Given the description of an element on the screen output the (x, y) to click on. 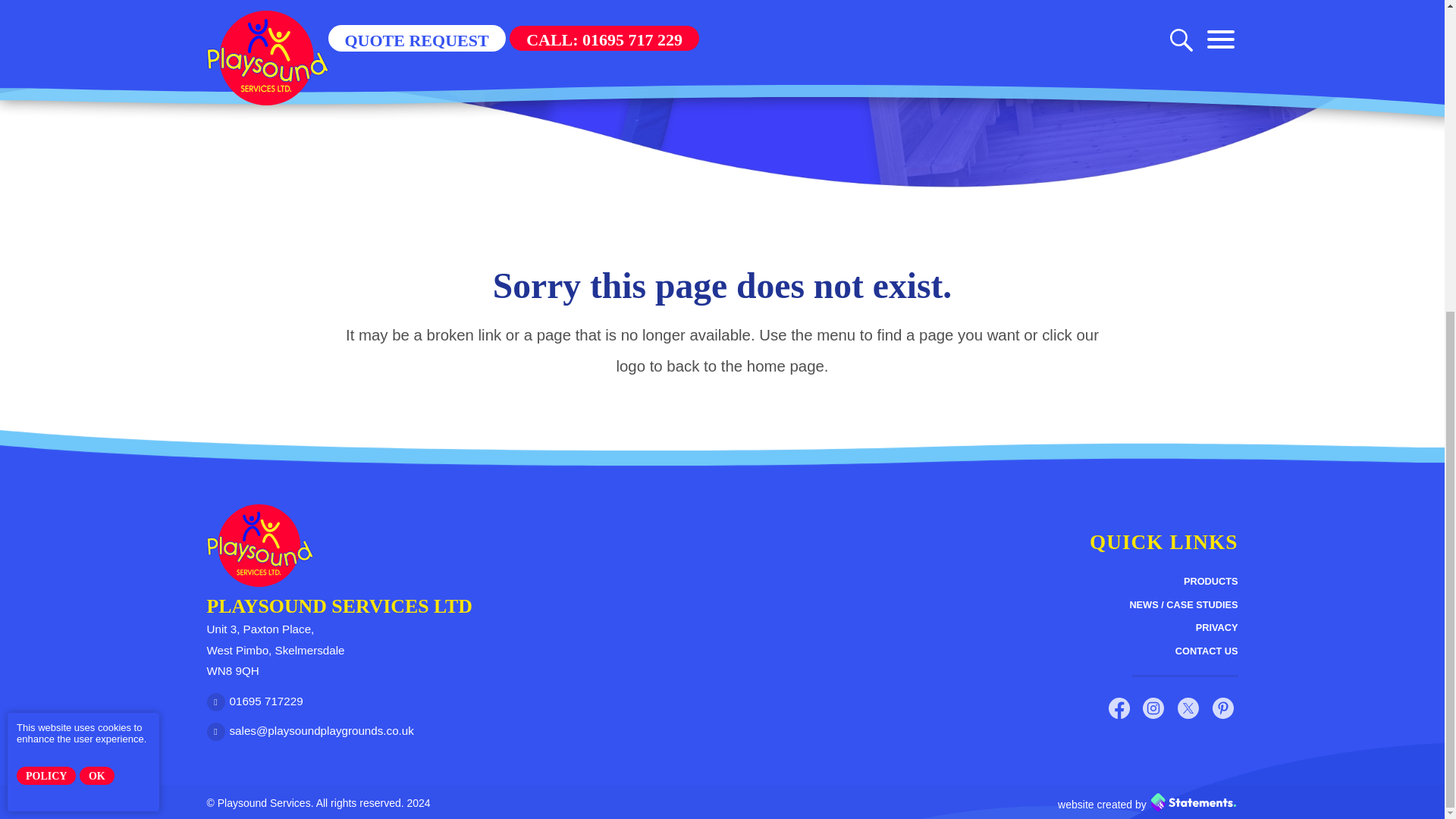
Pinterest (1222, 708)
PRODUCTS (1211, 580)
01695 717229 (254, 701)
Facebook (1118, 708)
Facebook (1118, 708)
PRIVACY (1217, 628)
CONTACT US (1206, 651)
Pinterest (1222, 708)
